Given the description of an element on the screen output the (x, y) to click on. 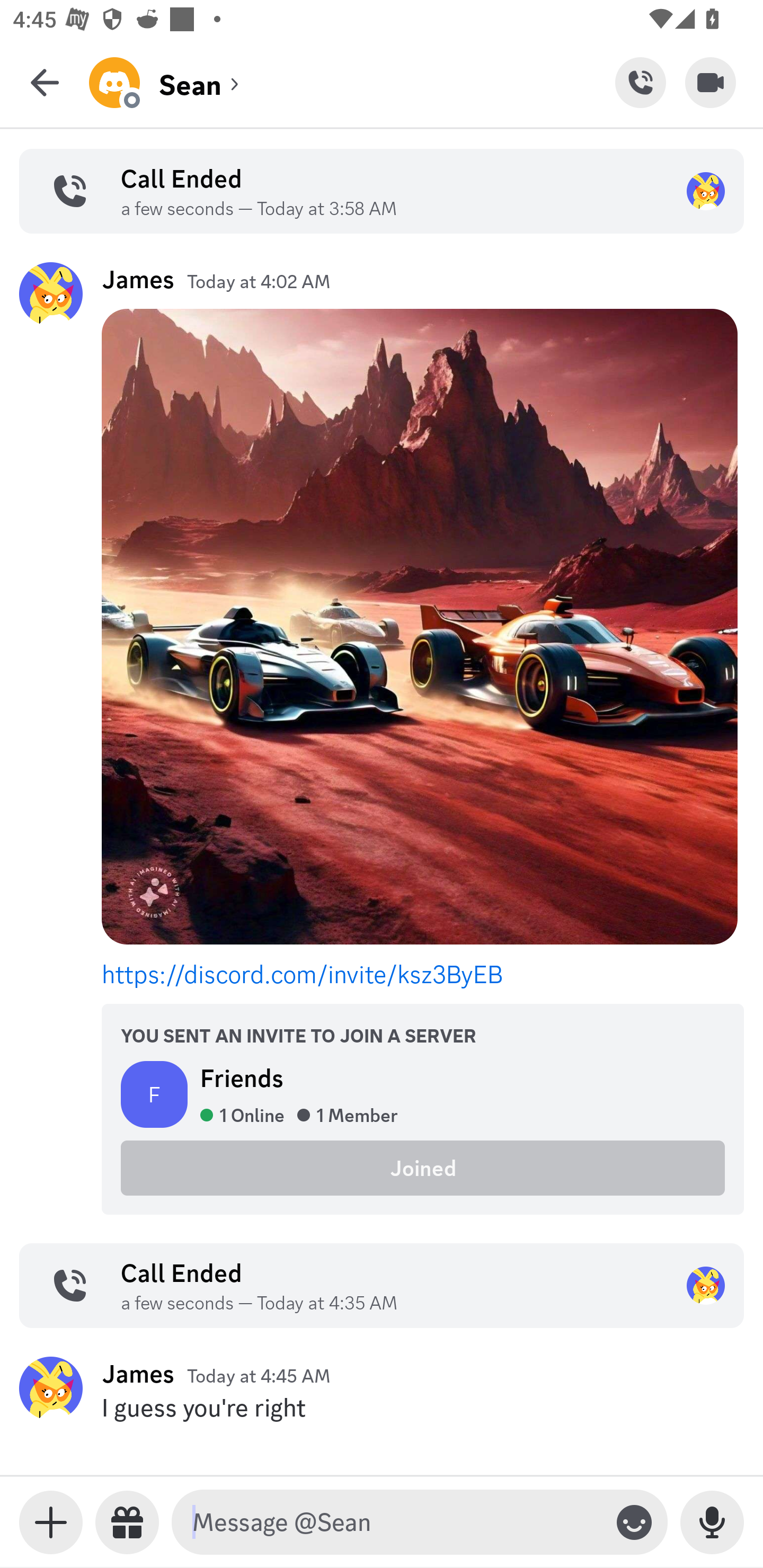
Sean (channel) Sean Sean (channel) (351, 82)
Back (44, 82)
Start Voice Call (640, 82)
Start Video Call (710, 82)
Call Ended a few seconds — Today at 3:58 AM (381, 190)
James (137, 278)
Joined (422, 1166)
Call Ended a few seconds — Today at 4:35 AM (381, 1285)
James (137, 1373)
Message @Sean Toggle emoji keyboard (419, 1522)
Toggle media keyboard (50, 1522)
Send a gift (126, 1522)
Record Voice Message (711, 1522)
Toggle emoji keyboard (634, 1522)
